Given the description of an element on the screen output the (x, y) to click on. 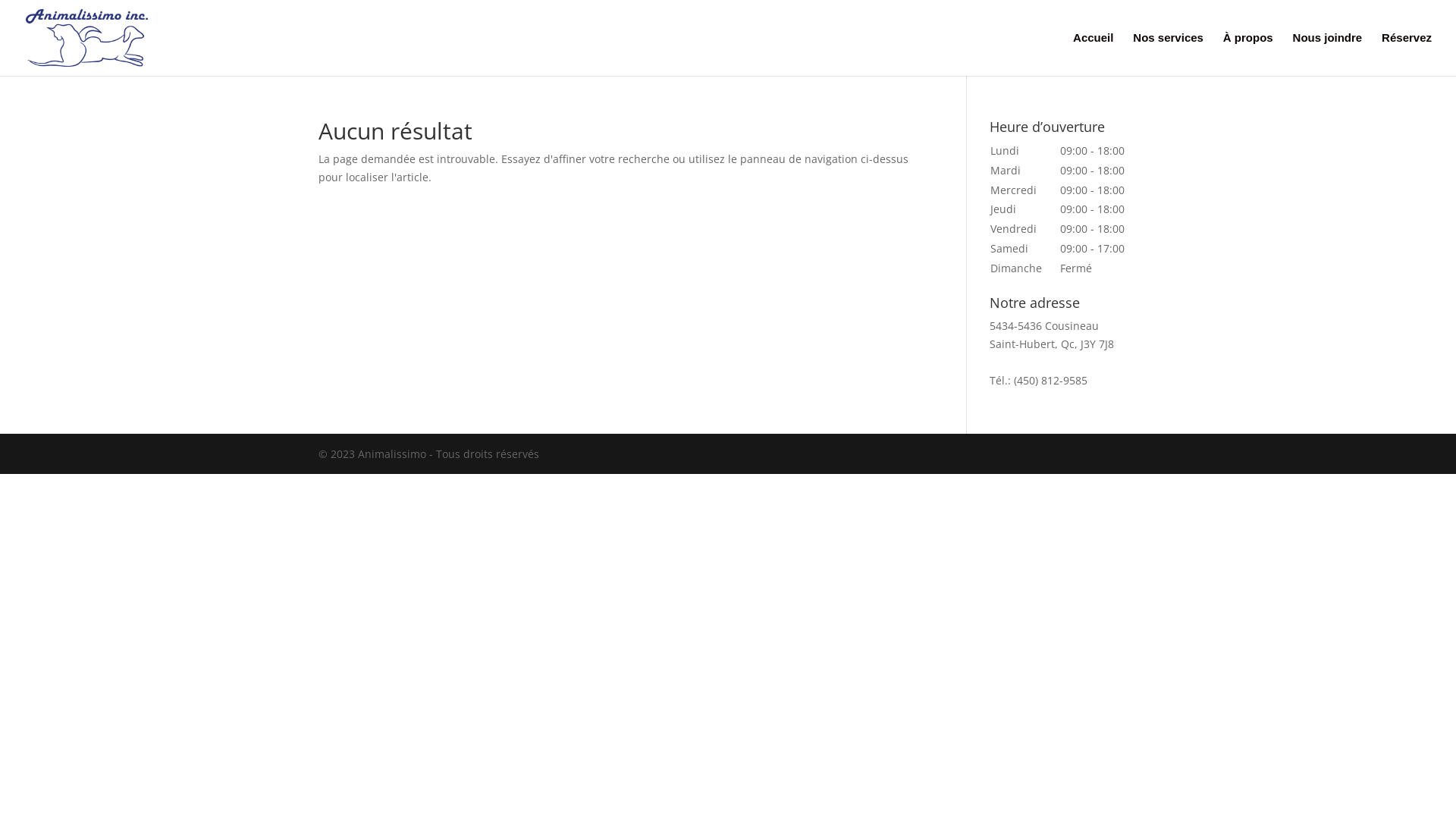
Nos services Element type: text (1167, 53)
Nous joindre Element type: text (1327, 53)
Accueil Element type: text (1093, 53)
